Given the description of an element on the screen output the (x, y) to click on. 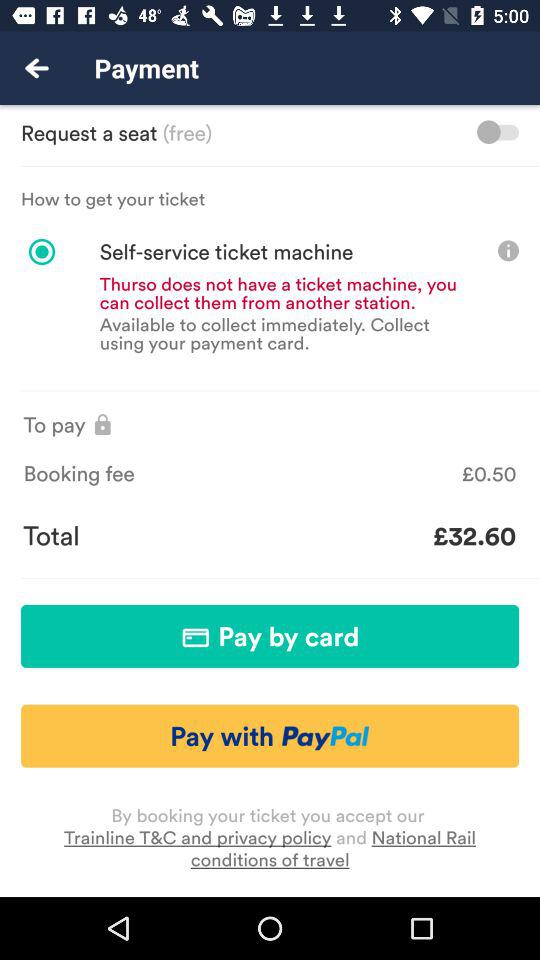
toggle request a seat option (497, 132)
